Given the description of an element on the screen output the (x, y) to click on. 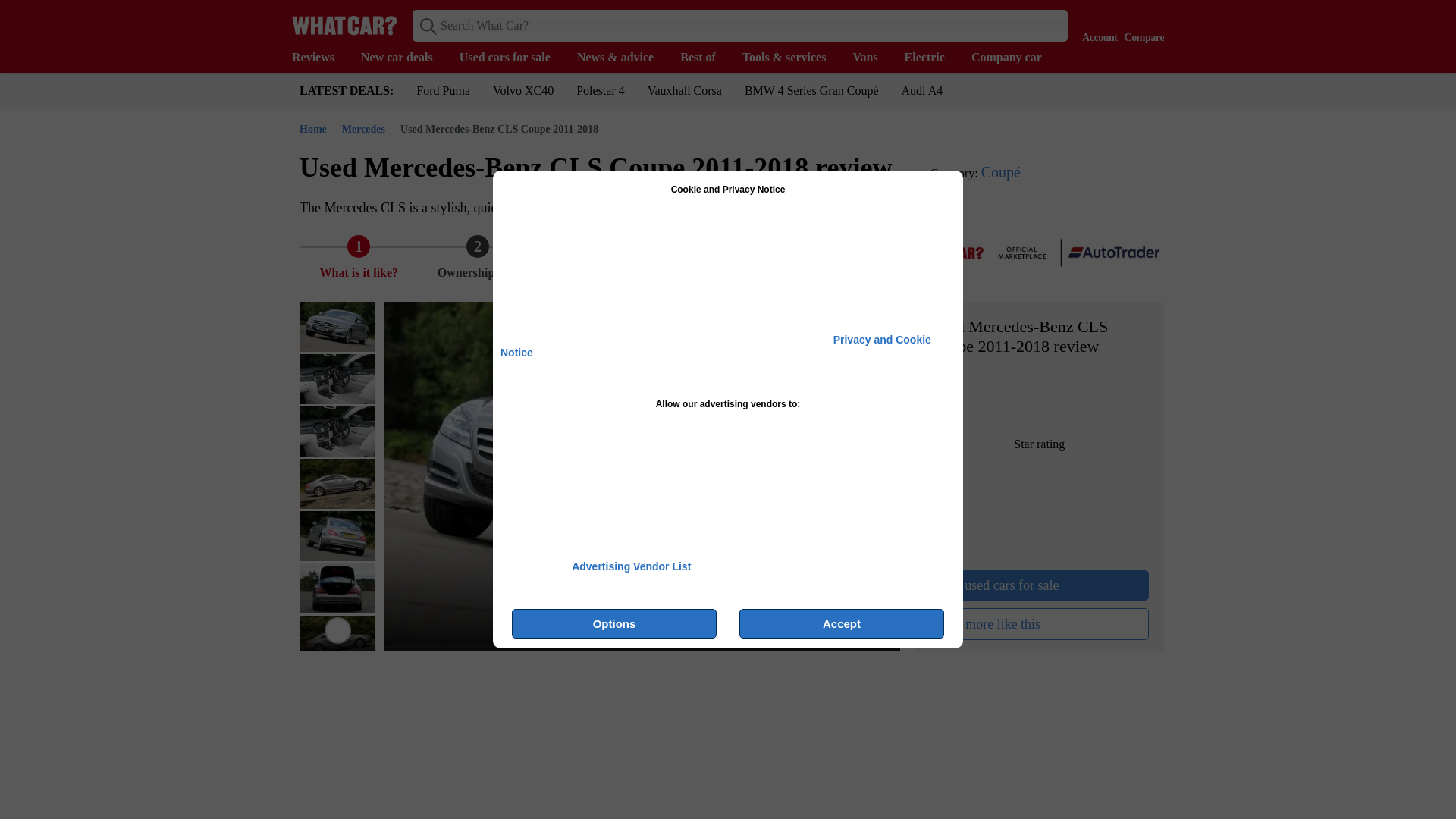
Used cars for sale (513, 57)
Compare (1140, 24)
Vans (871, 57)
Best of (704, 57)
Reviews (320, 57)
Company car (1014, 57)
New car deals (404, 57)
WhatCar? logo (344, 25)
Electric (931, 57)
Account (1095, 24)
